Given the description of an element on the screen output the (x, y) to click on. 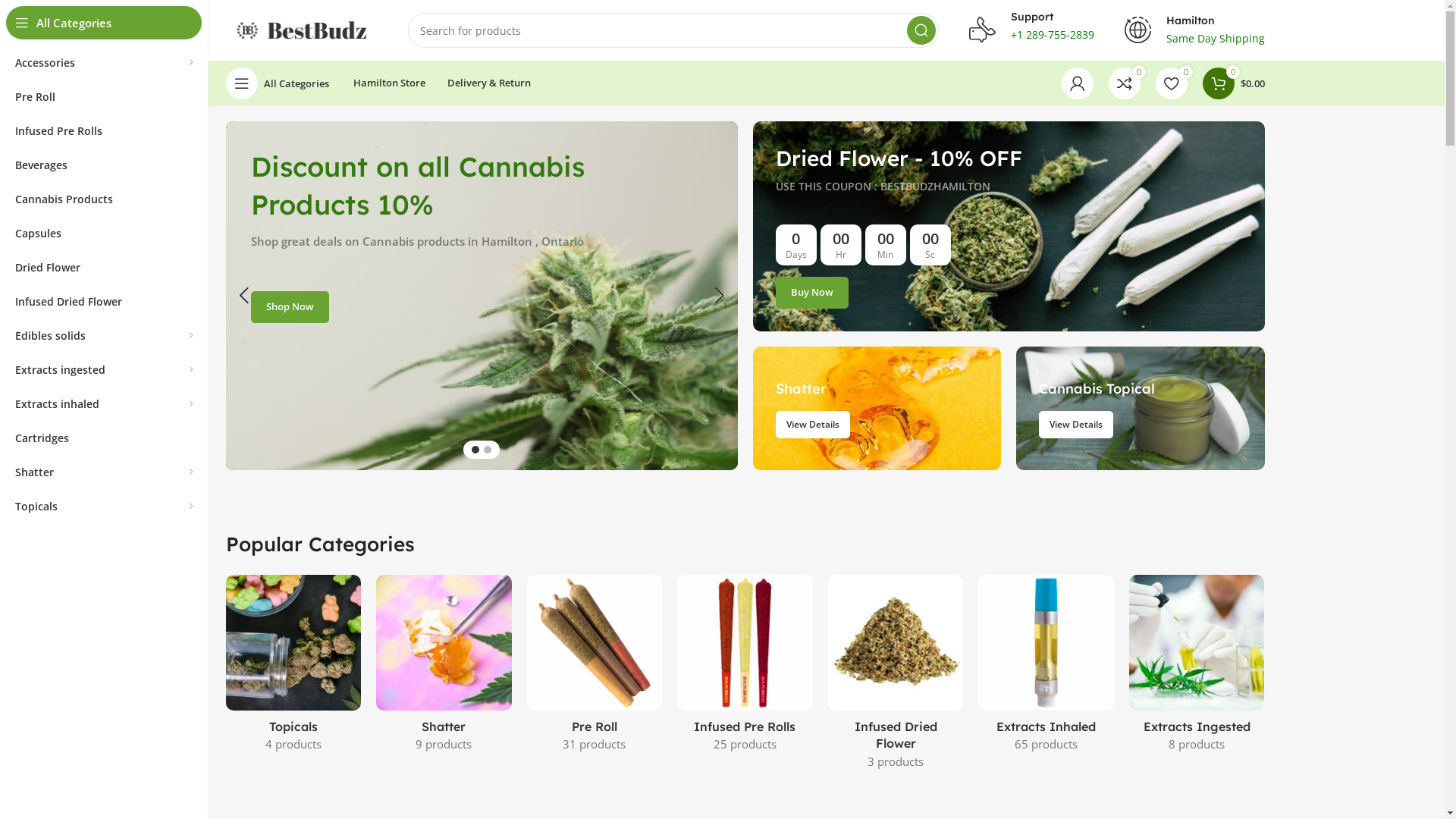
Shatter
View Details Element type: text (876, 408)
Cannabis Toppical Element type: hover (292, 642)
Cannabis Extracts ingested Element type: hover (1196, 642)
Edibles solids Element type: text (103, 335)
Delivery & Return Element type: text (488, 83)
Cannabis Shatter Element type: hover (443, 642)
View Details Element type: text (1075, 424)
4 products Element type: text (293, 743)
bmekiyso5oeypdog2gte-1.jpg Element type: hover (1045, 642)
Capsules Element type: text (103, 233)
Blue SKZ Infused Power Flower 2g Distillates Element type: hover (895, 642)
0 Element type: text (1171, 83)
All Categories Element type: text (277, 83)
3 products Element type: text (895, 760)
31 products Element type: text (593, 743)
Cannabis Products Element type: text (103, 199)
Pre Roll Element type: text (103, 96)
Search for products Element type: hover (672, 29)
65 products Element type: text (1045, 743)
25 products Element type: text (744, 743)
0
$0.00 Element type: text (1233, 83)
Accessories Element type: text (103, 62)
DRY-WEED-FLOWER Element type: hover (1008, 226)
shatter weed Element type: hover (876, 408)
Extracts ingested Element type: text (103, 369)
Infused Dried Flower Element type: text (103, 301)
Cannabis Topical
View Details Element type: text (1140, 408)
9 products Element type: text (443, 743)
Infused Pre Rolls Element type: text (103, 130)
Search Element type: text (920, 29)
Cartridges Element type: text (103, 437)
Shatter Element type: text (103, 472)
My account Element type: hover (1077, 83)
Topicals Element type: text (103, 506)
Beverages Element type: text (103, 164)
Shop Now Element type: text (290, 307)
Hamilton Store Element type: text (389, 83)
cannabis-topical Element type: hover (1140, 408)
View Details Element type: text (812, 424)
Buy Now Element type: text (811, 292)
0 Element type: text (1124, 83)
Dried Flower Element type: text (103, 267)
8 products Element type: text (1196, 743)
Extracts inhaled Element type: text (103, 403)
